Given the description of an element on the screen output the (x, y) to click on. 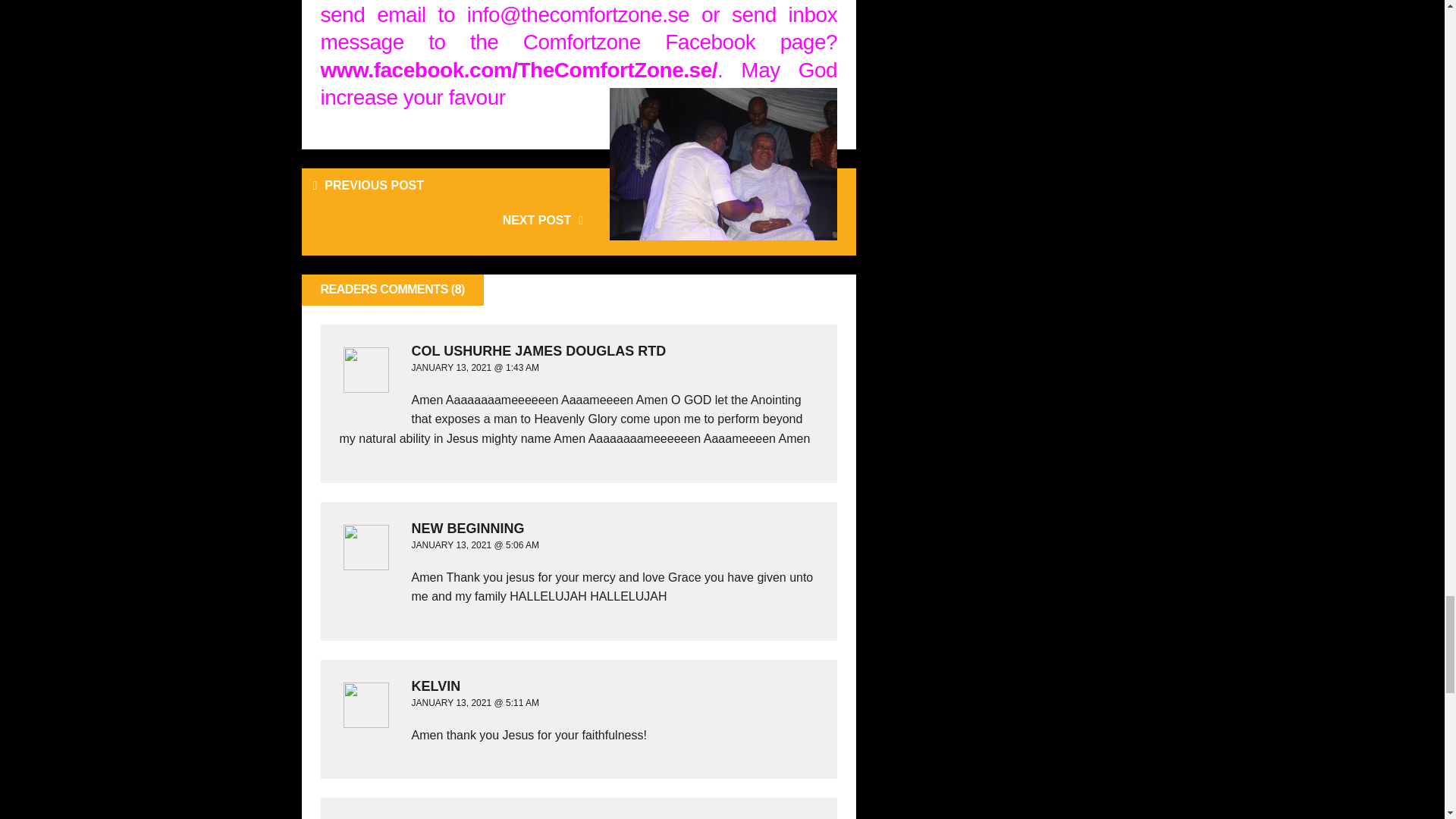
NEW BEGINNING (574, 528)
NEXT POST (455, 220)
PREVIOUS POST (440, 185)
